Given the description of an element on the screen output the (x, y) to click on. 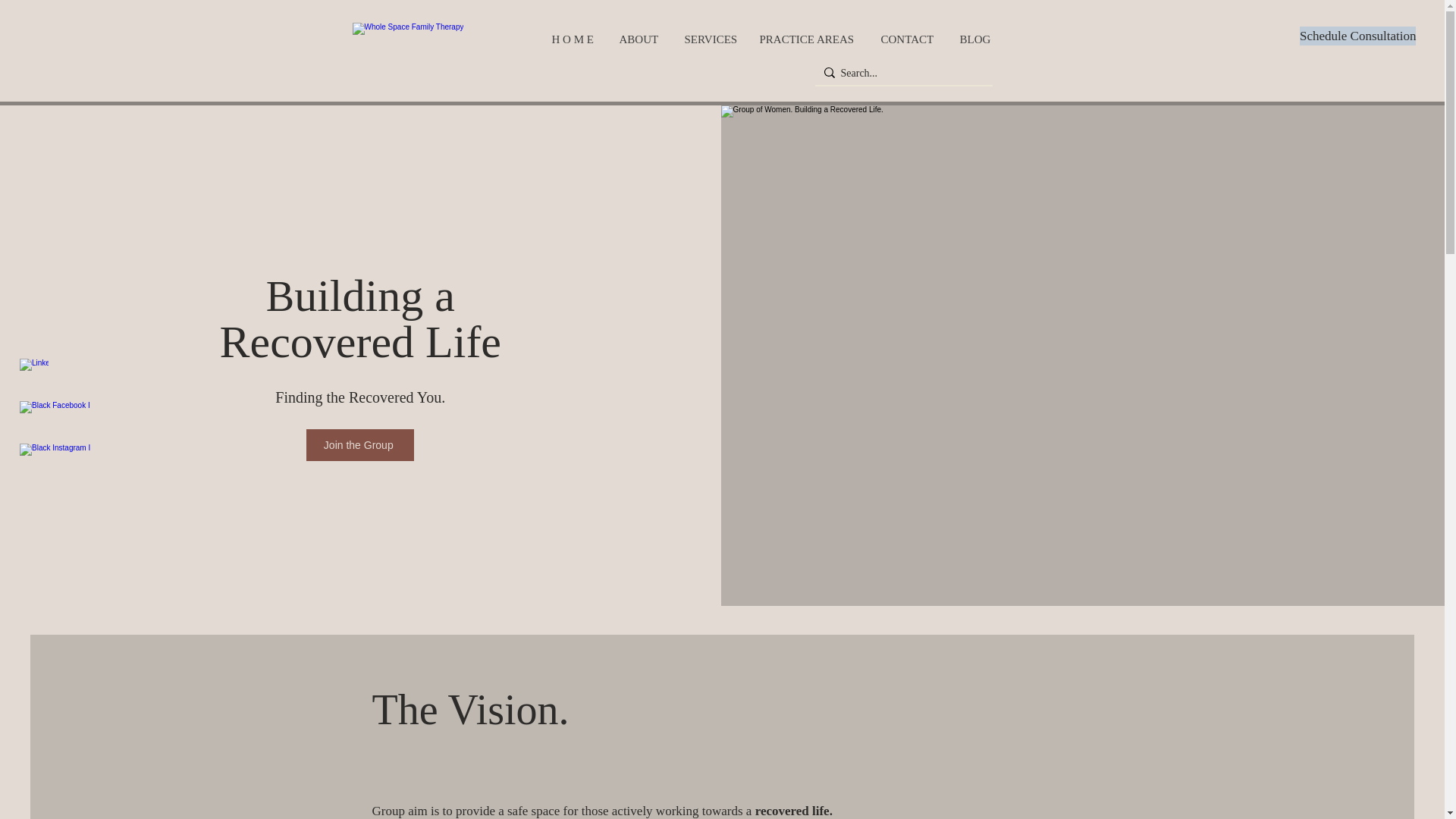
CONTACT (908, 38)
H O M E (573, 38)
PRACTICE AREAS (808, 38)
ABOUT (640, 38)
BLOG (975, 38)
Schedule Consultation (1357, 35)
Join the Group (359, 445)
SERVICES (710, 38)
